Given the description of an element on the screen output the (x, y) to click on. 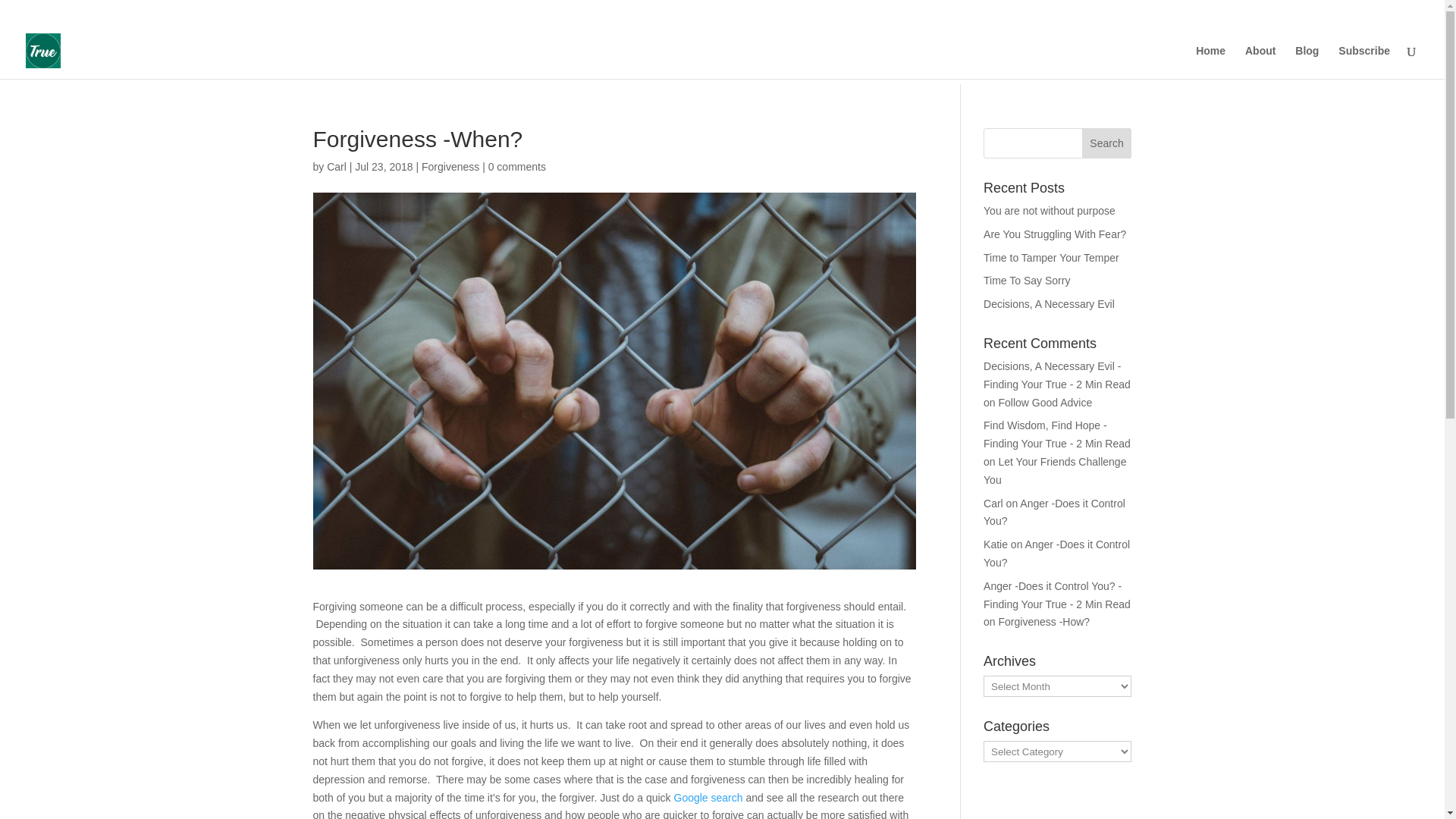
You are not without purpose (1049, 210)
Carl (993, 503)
0 comments (516, 166)
Search (1106, 142)
Are You Struggling With Fear? (1054, 234)
Follow Good Advice (1045, 402)
Carl (336, 166)
Anger -Does it Control You? (1054, 512)
Subscribe (1364, 61)
Forgiveness -How? (1044, 621)
